Given the description of an element on the screen output the (x, y) to click on. 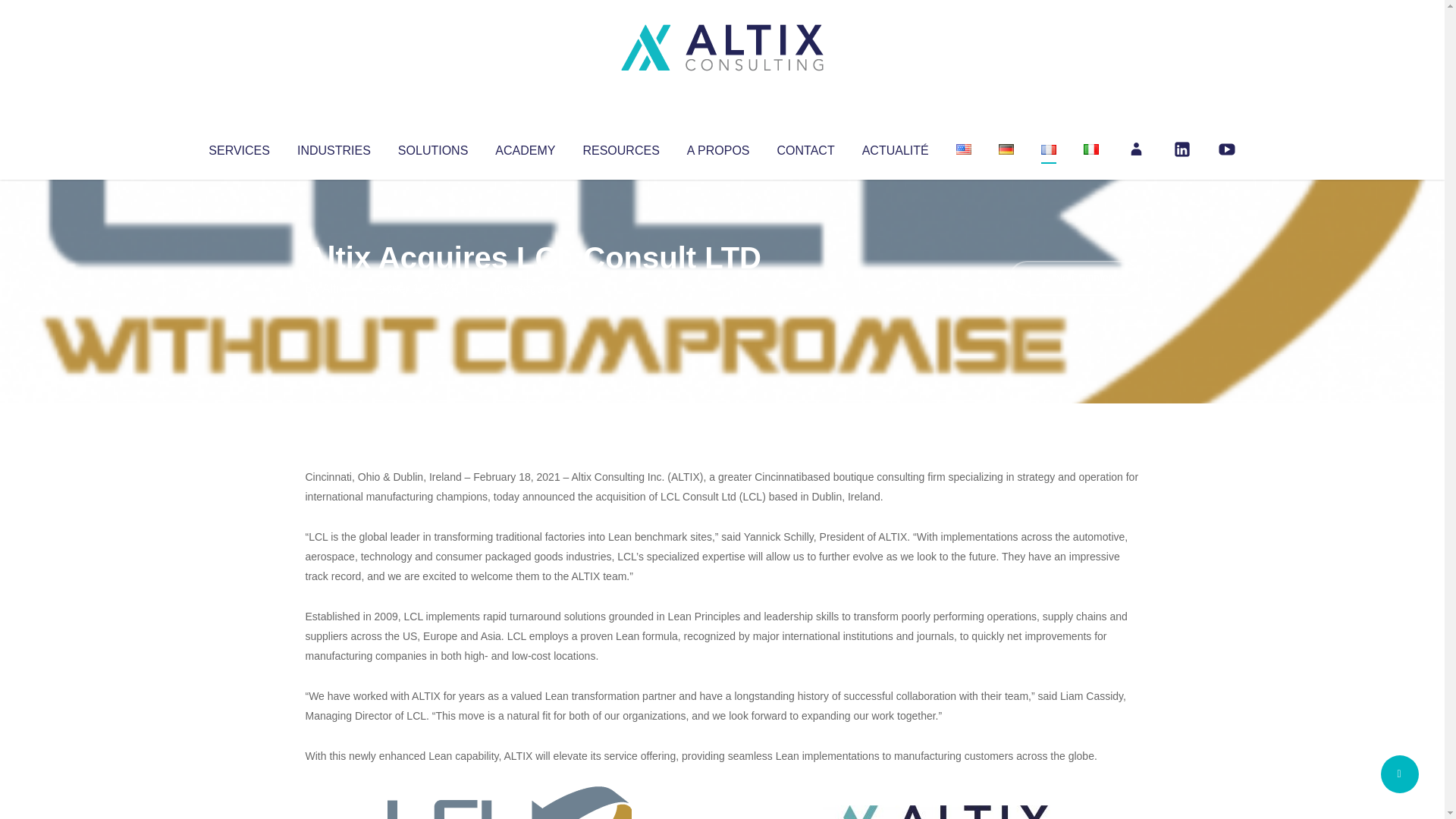
Articles par Altix (333, 287)
SOLUTIONS (432, 146)
Altix (333, 287)
Uncategorized (530, 287)
SERVICES (238, 146)
A PROPOS (718, 146)
No Comments (1073, 278)
RESOURCES (620, 146)
ACADEMY (524, 146)
INDUSTRIES (334, 146)
